Given the description of an element on the screen output the (x, y) to click on. 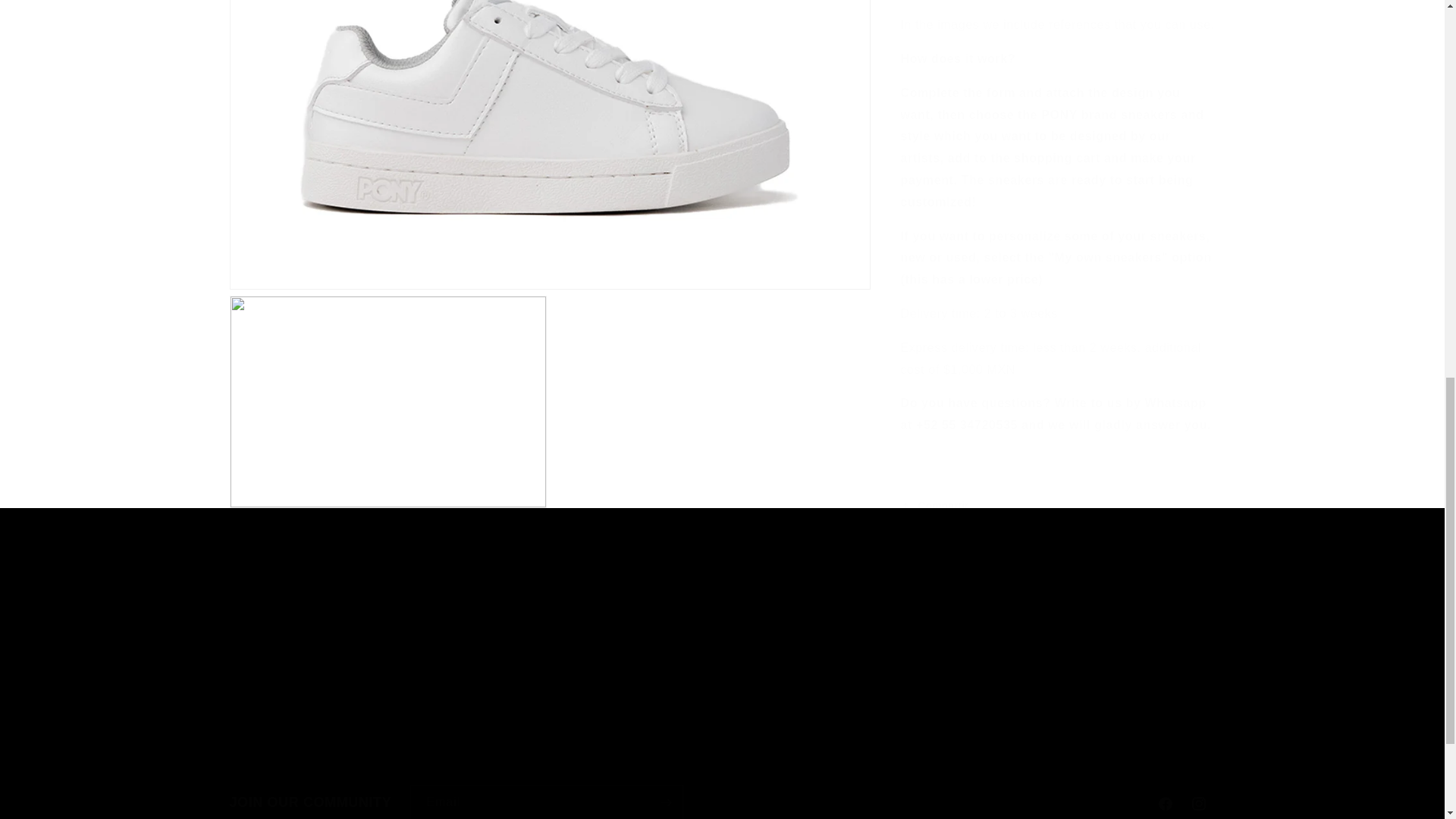
Agustin Melgar 41A, Condesa CDMX. (721, 801)
